Given the description of an element on the screen output the (x, y) to click on. 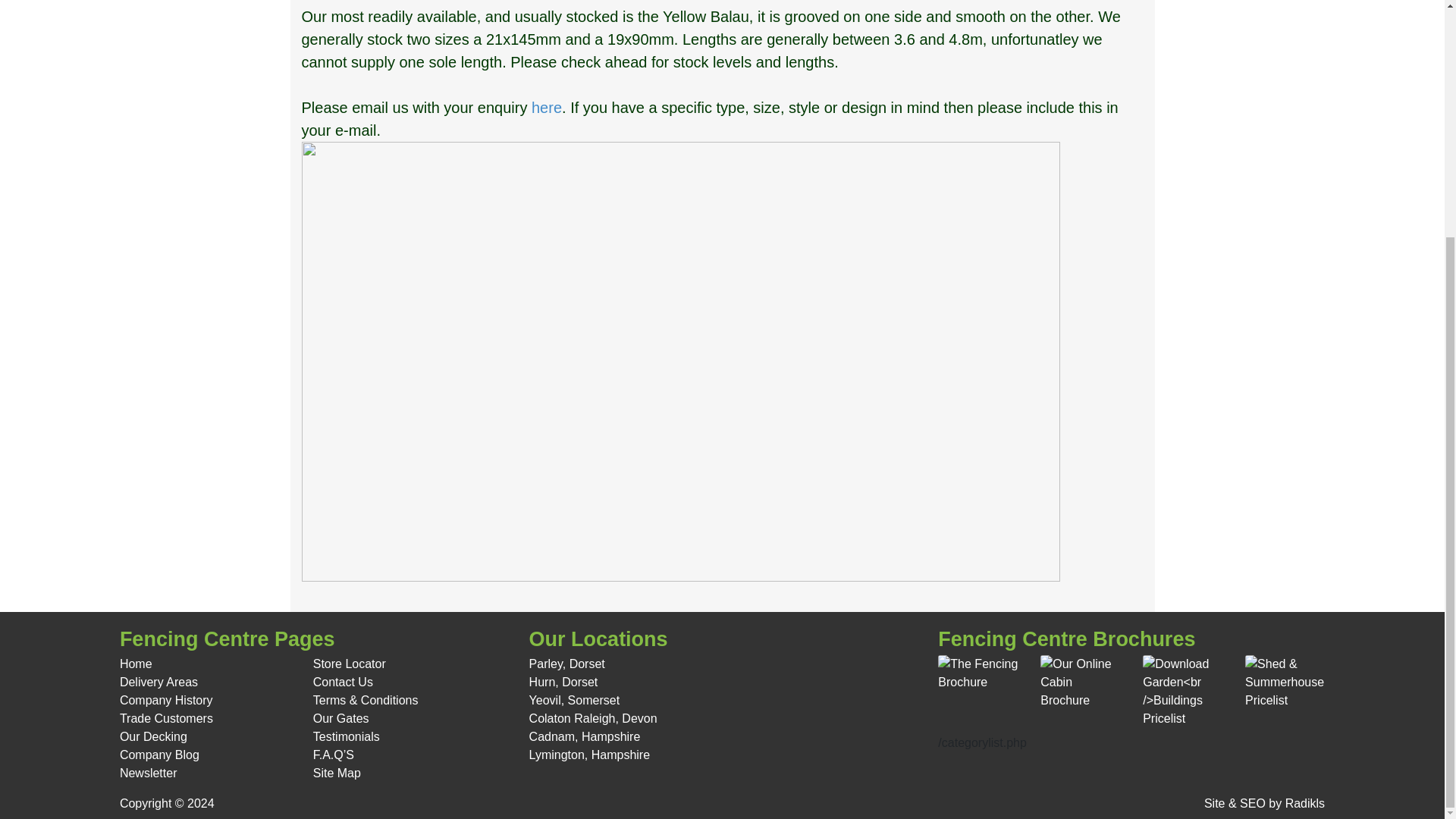
The Fencing Centre in Parley, Dorset (567, 663)
The Fencing Centre in Lymington, Hampshire (589, 754)
The Fencing Centre Company History (165, 699)
The Fencing Centre Company Blog (159, 754)
The Fencing Centre Contact Us (342, 681)
The Fencing Centre Delivery Areas (158, 681)
The Fencing Centre Trade Customers (165, 717)
The Fencing Centre Newsletter (148, 772)
The Fencing Centre Site Map (337, 772)
The Fencing Centre in Cadnam, New Forest (584, 736)
The Fencing Centre Our Decking (153, 736)
The Fencing Centre Testimonials (346, 736)
The Fencing Centre Our Gates (341, 717)
The Fencing Centre in Yeovil, Somerset (574, 699)
The Fencing Centre Store Locator (349, 663)
